Given the description of an element on the screen output the (x, y) to click on. 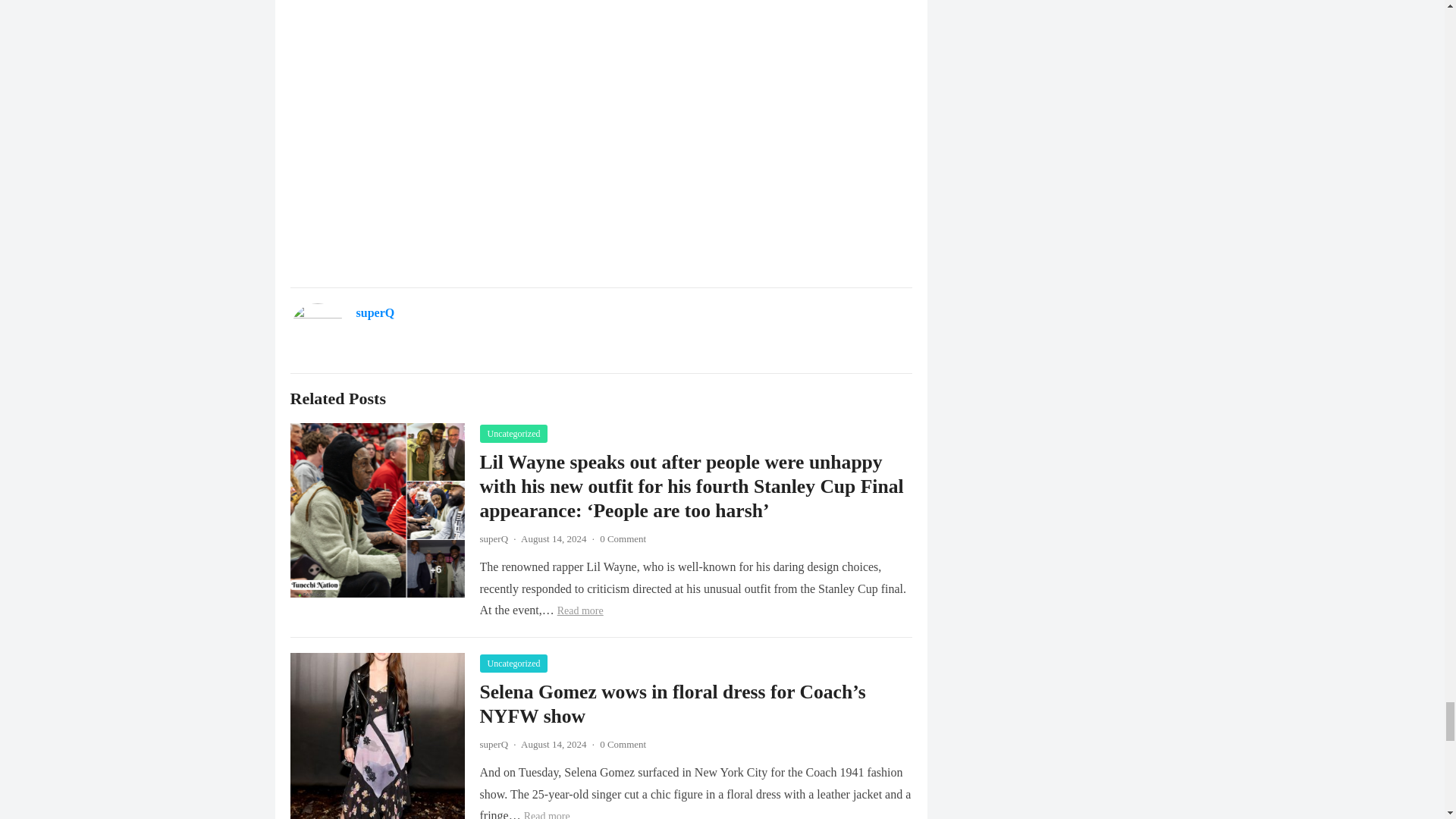
0 Comment (622, 744)
Uncategorized (513, 663)
0 Comment (622, 538)
Read more (547, 814)
Read more (580, 610)
superQ (493, 744)
Uncategorized (513, 434)
Posts by superQ (493, 538)
Posts by superQ (493, 744)
superQ (375, 312)
